Given the description of an element on the screen output the (x, y) to click on. 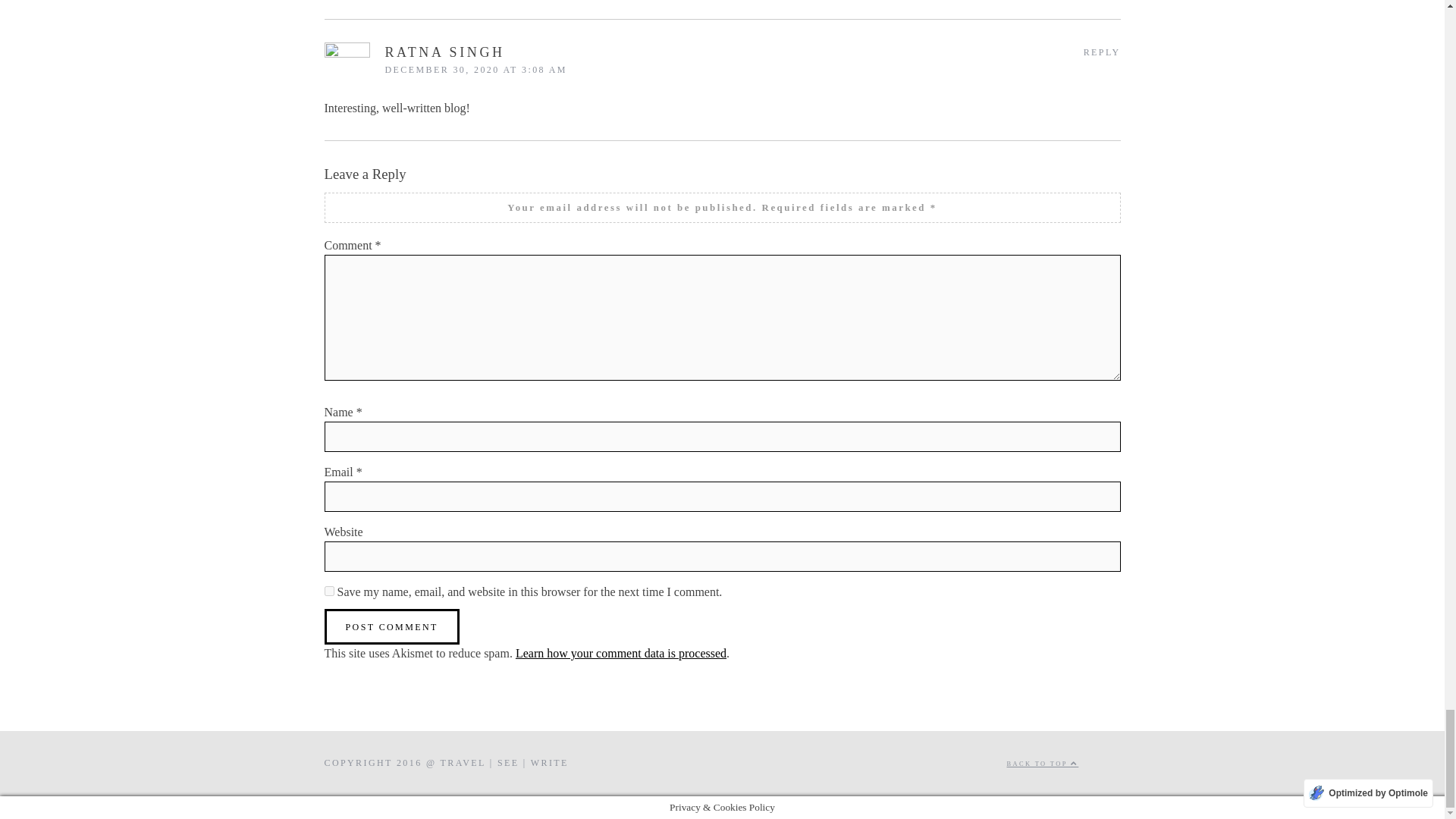
Post Comment (392, 626)
yes (329, 591)
